Given the description of an element on the screen output the (x, y) to click on. 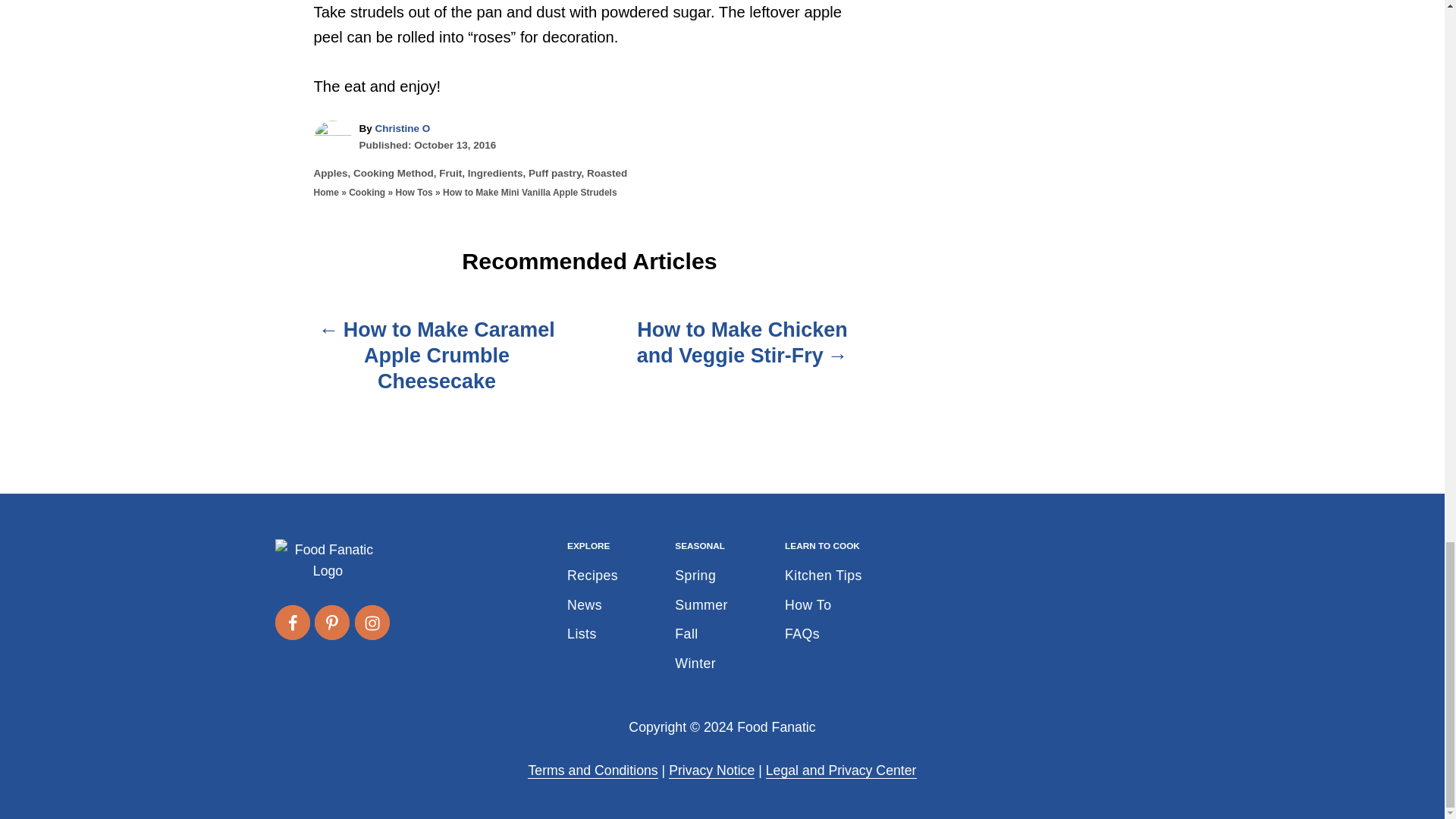
Follow on Instagram (372, 622)
Follow on Pinterest (331, 622)
Follow on Facebook (291, 622)
